Given the description of an element on the screen output the (x, y) to click on. 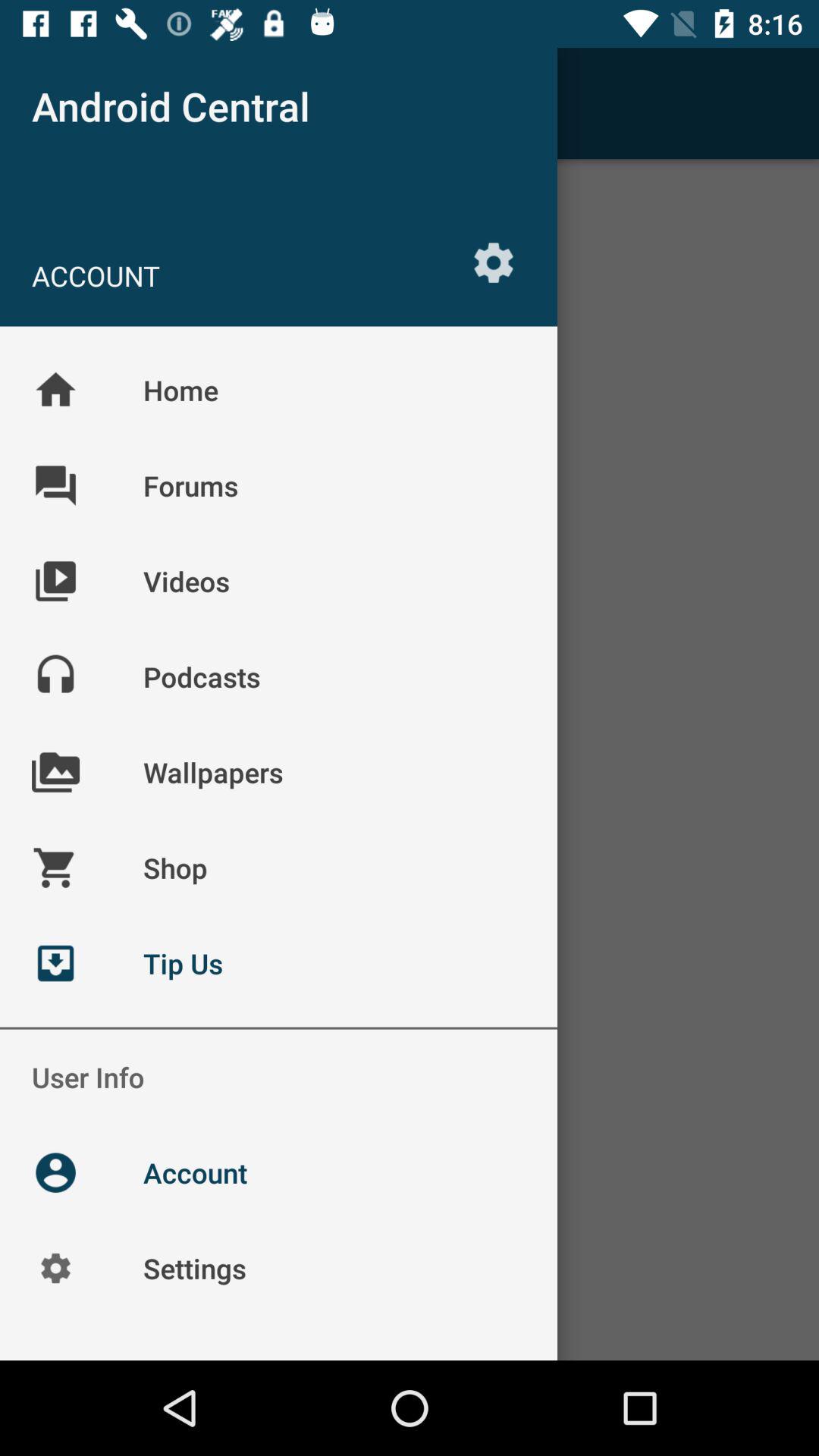
go to account settings (493, 262)
